Given the description of an element on the screen output the (x, y) to click on. 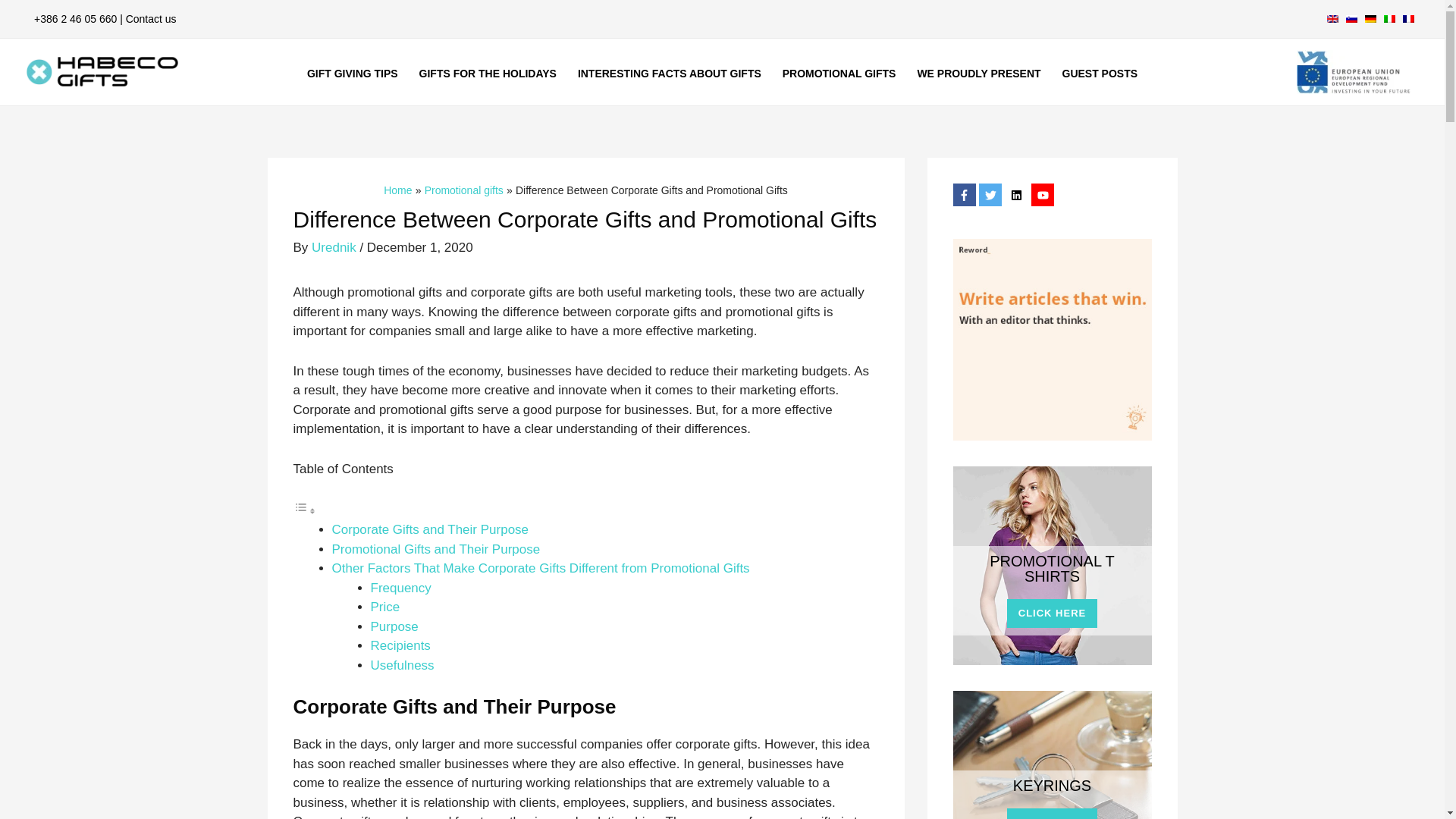
Purpose (393, 626)
Contact us (150, 18)
GIFTS FOR THE HOLIDAYS (488, 73)
GIFT GIVING TIPS (353, 73)
WE PROUDLY PRESENT (978, 73)
Frequency (399, 587)
Promotional T shirts (1051, 564)
PROMOTIONAL GIFTS (839, 73)
GUEST POSTS (1099, 73)
View all posts by Urednik (335, 247)
